Given the description of an element on the screen output the (x, y) to click on. 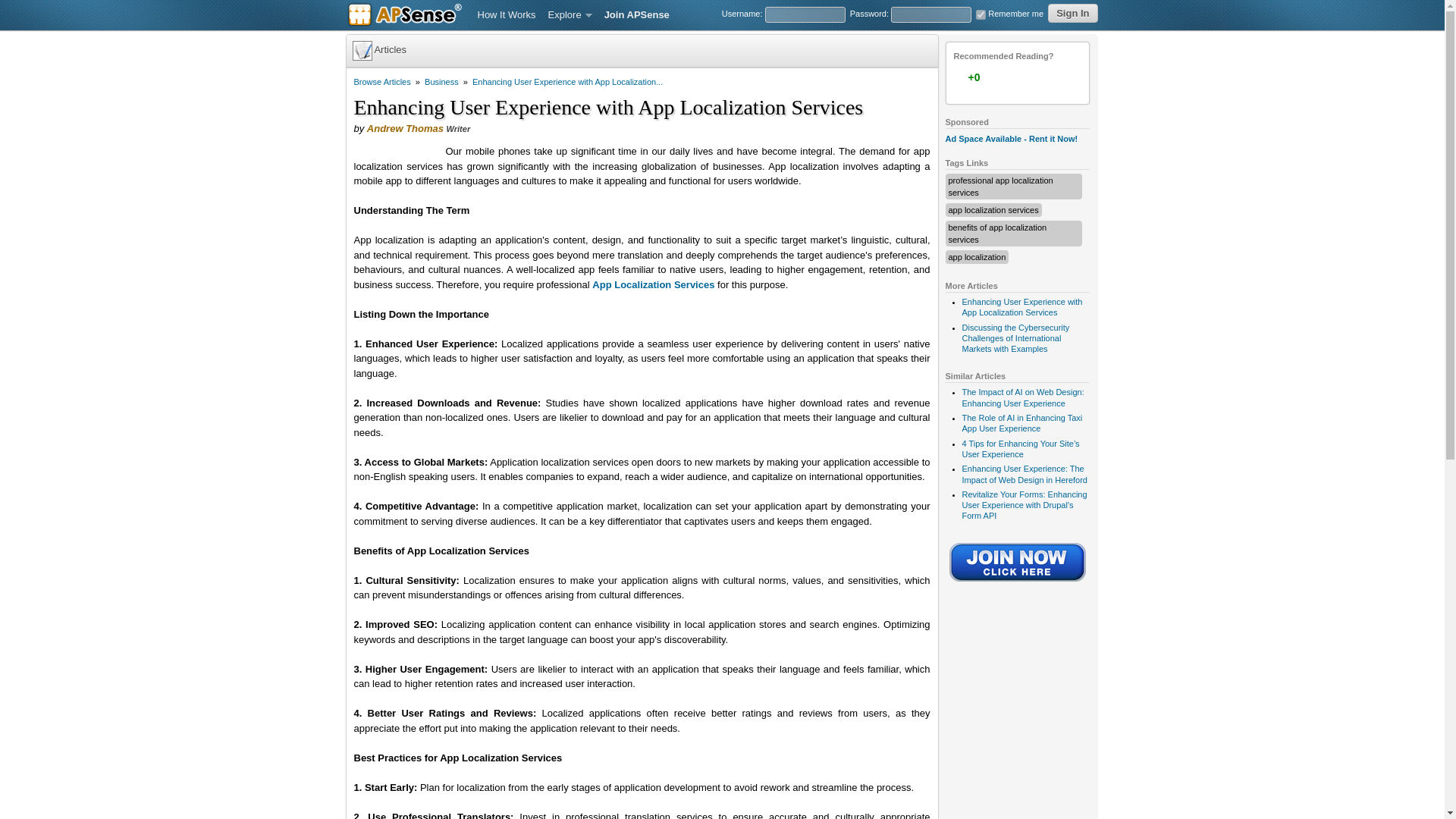
Enhancing User Experience with App Localization Services (1020, 306)
app localization services (992, 209)
The Impact of AI on Web Design: Enhancing User Experience (1021, 397)
Votes Up (973, 77)
Business (441, 81)
Vote Up (1002, 77)
Browse Articles (381, 81)
benefits of app localization services (996, 233)
app localization (976, 256)
-1 (1031, 77)
